Given the description of an element on the screen output the (x, y) to click on. 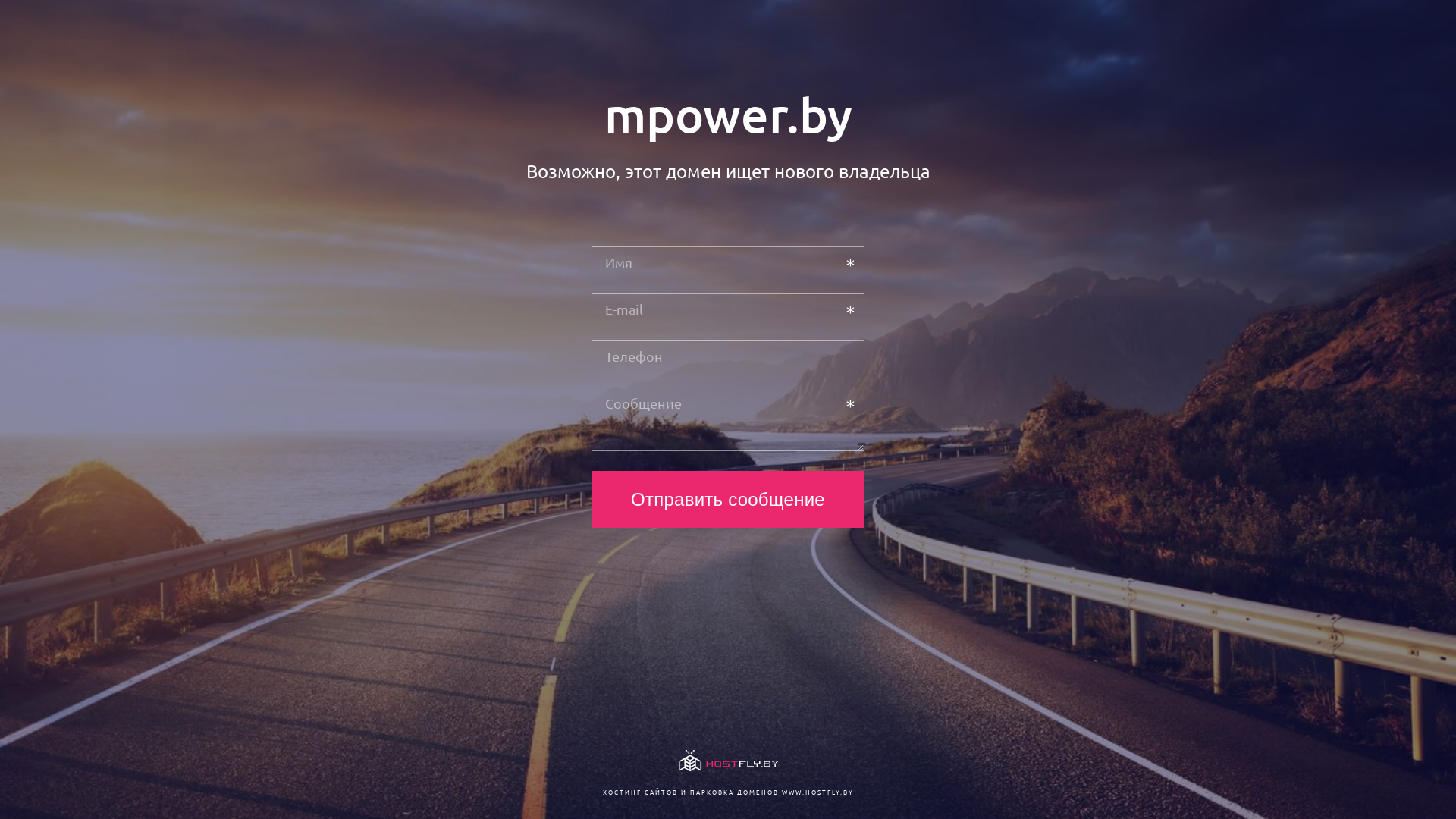
WWW.HOSTFLY.BY Element type: text (817, 791)
